Given the description of an element on the screen output the (x, y) to click on. 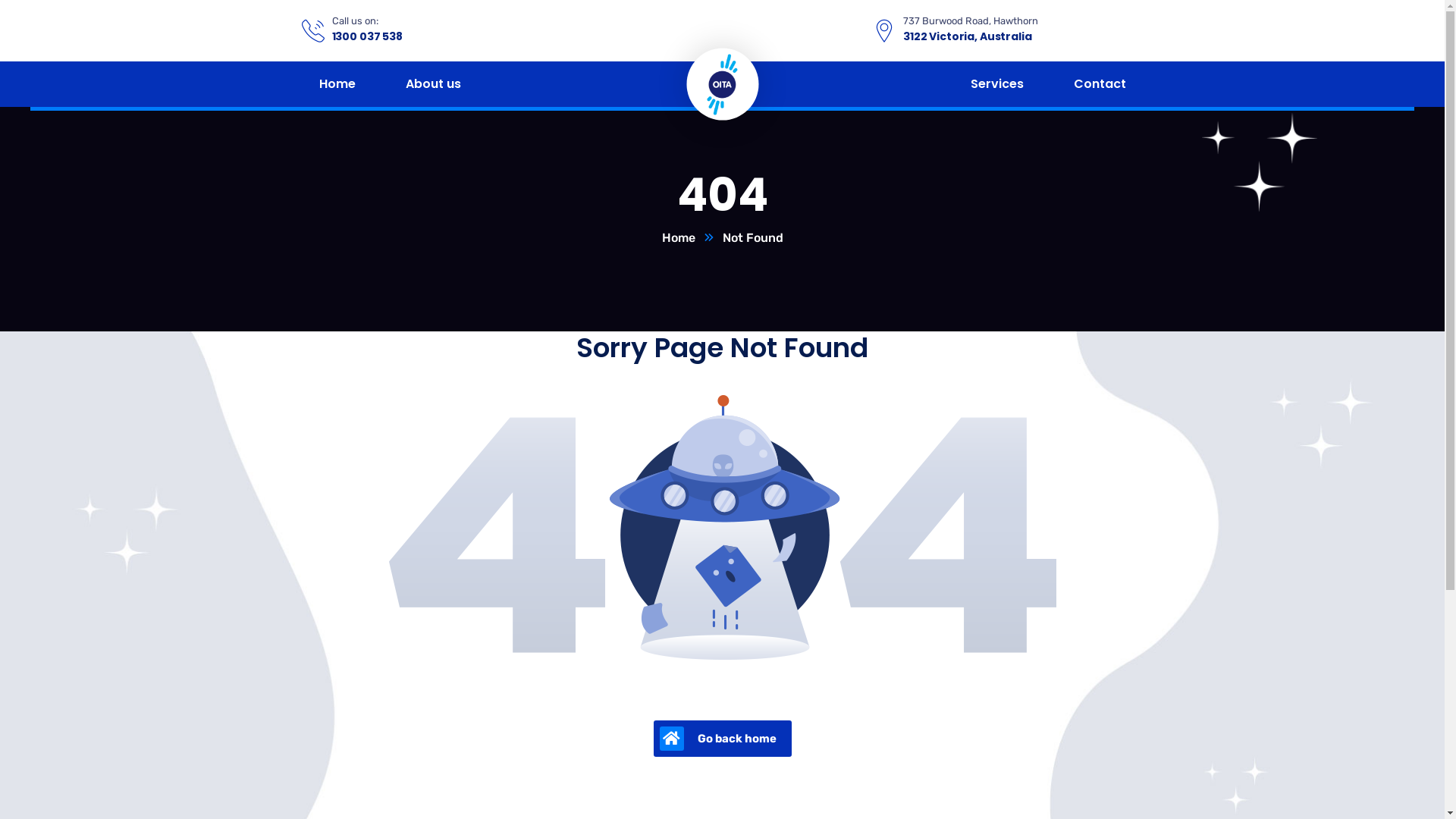
About us Element type: text (432, 83)
Home Element type: text (691, 237)
Go back home Element type: text (722, 738)
Home Element type: text (336, 83)
Oita Element type: hover (721, 82)
Contact Element type: text (1099, 83)
Services Element type: text (996, 83)
